Given the description of an element on the screen output the (x, y) to click on. 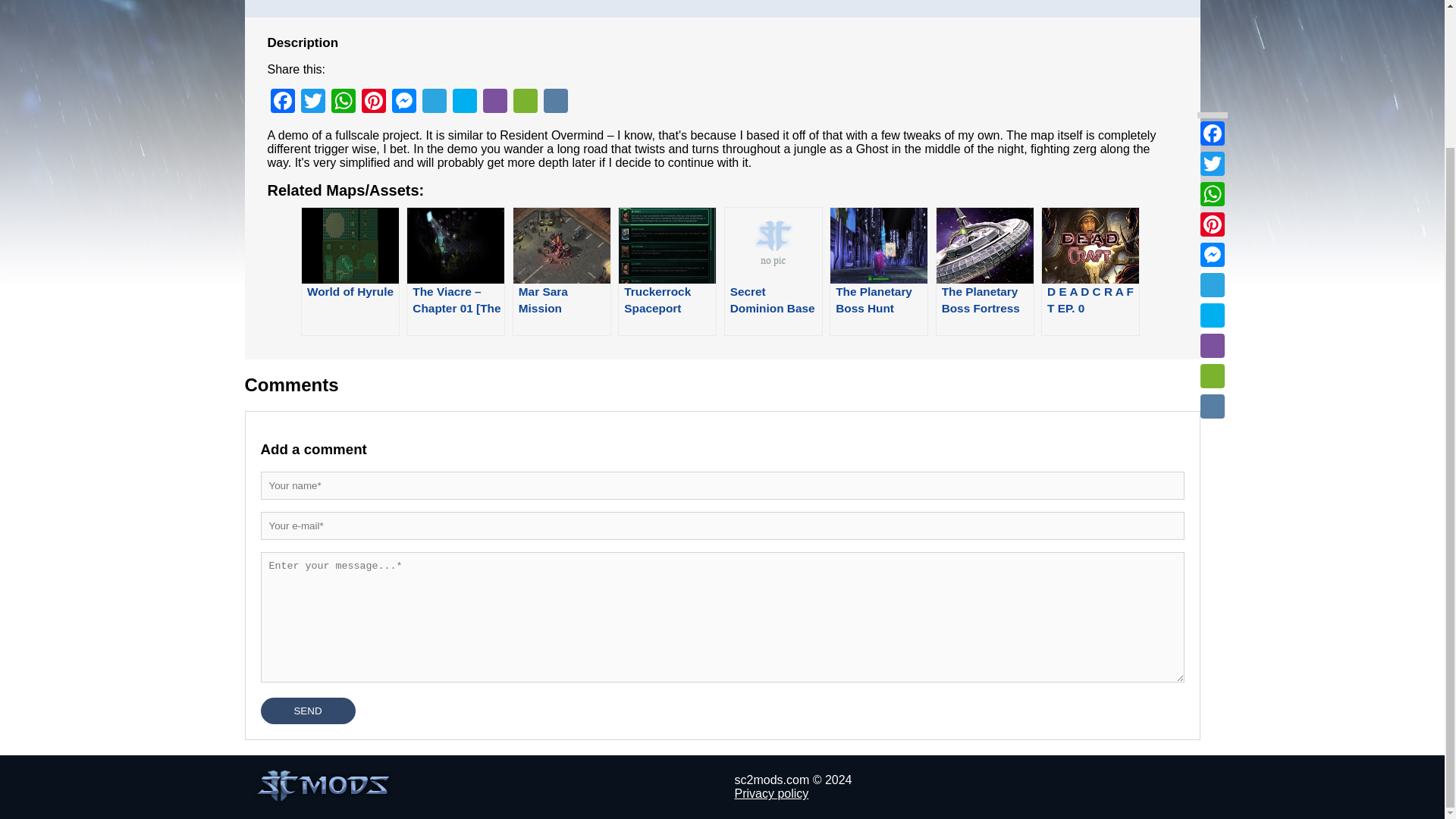
Pinterest (373, 102)
Viber (494, 102)
Viber (1211, 175)
WeChat (524, 102)
Pinterest (1211, 54)
VK (555, 102)
Telegram (1211, 114)
Skype (463, 102)
Messenger (403, 102)
Facebook (281, 102)
